Given the description of an element on the screen output the (x, y) to click on. 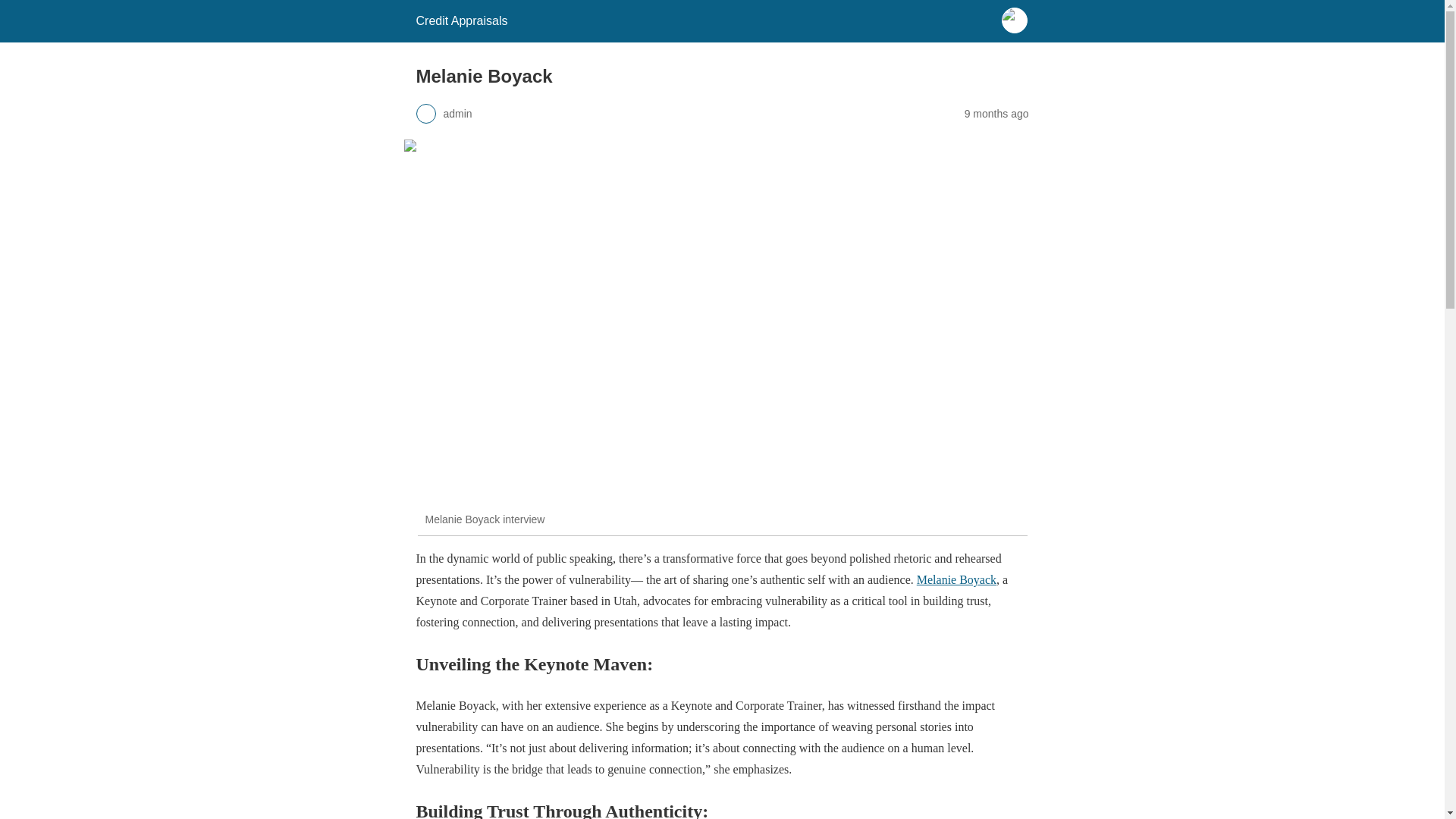
Melanie Boyack (956, 579)
Credit Appraisals (460, 20)
